Given the description of an element on the screen output the (x, y) to click on. 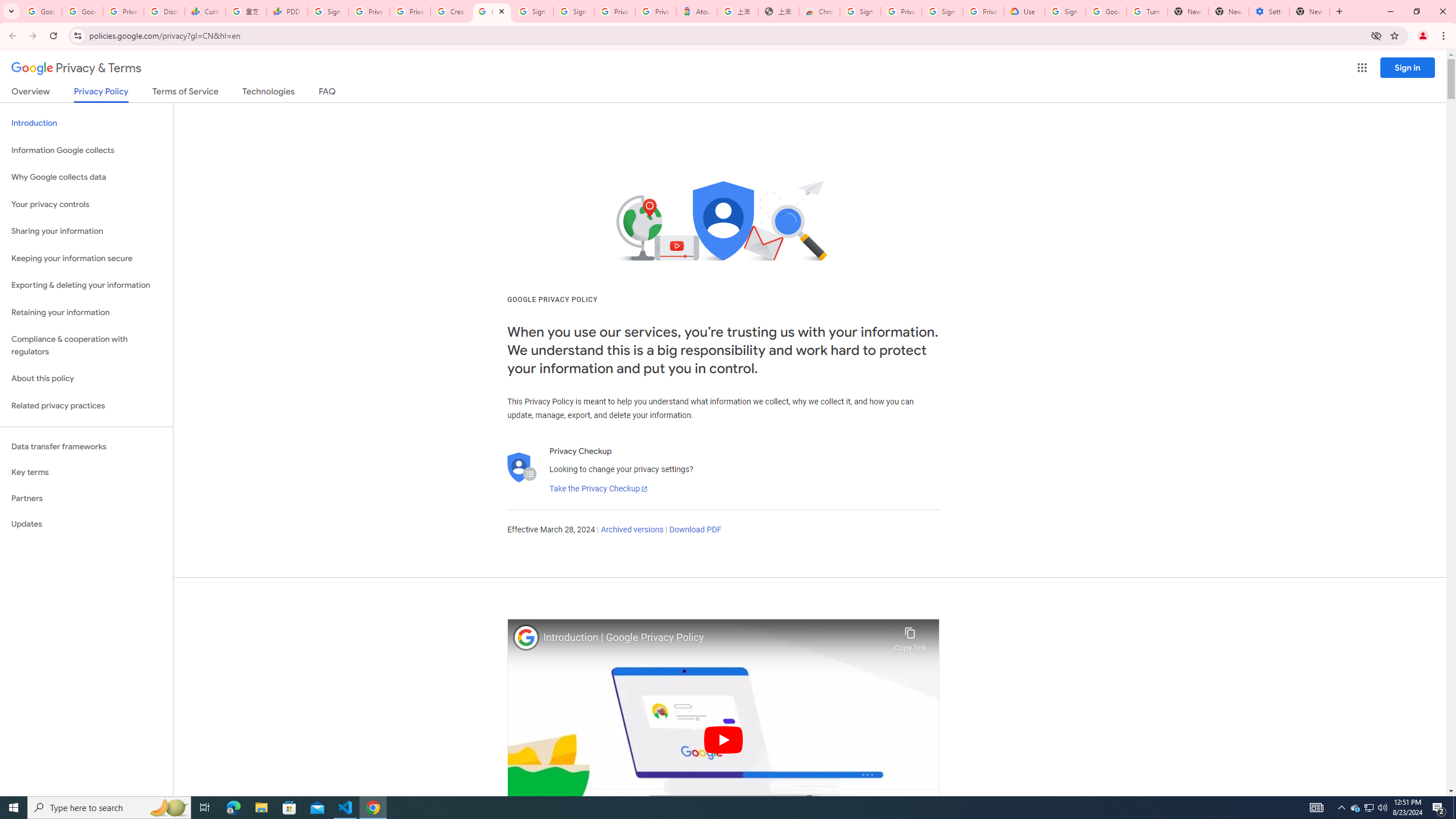
Google Workspace Admin Community (41, 11)
